Given the description of an element on the screen output the (x, y) to click on. 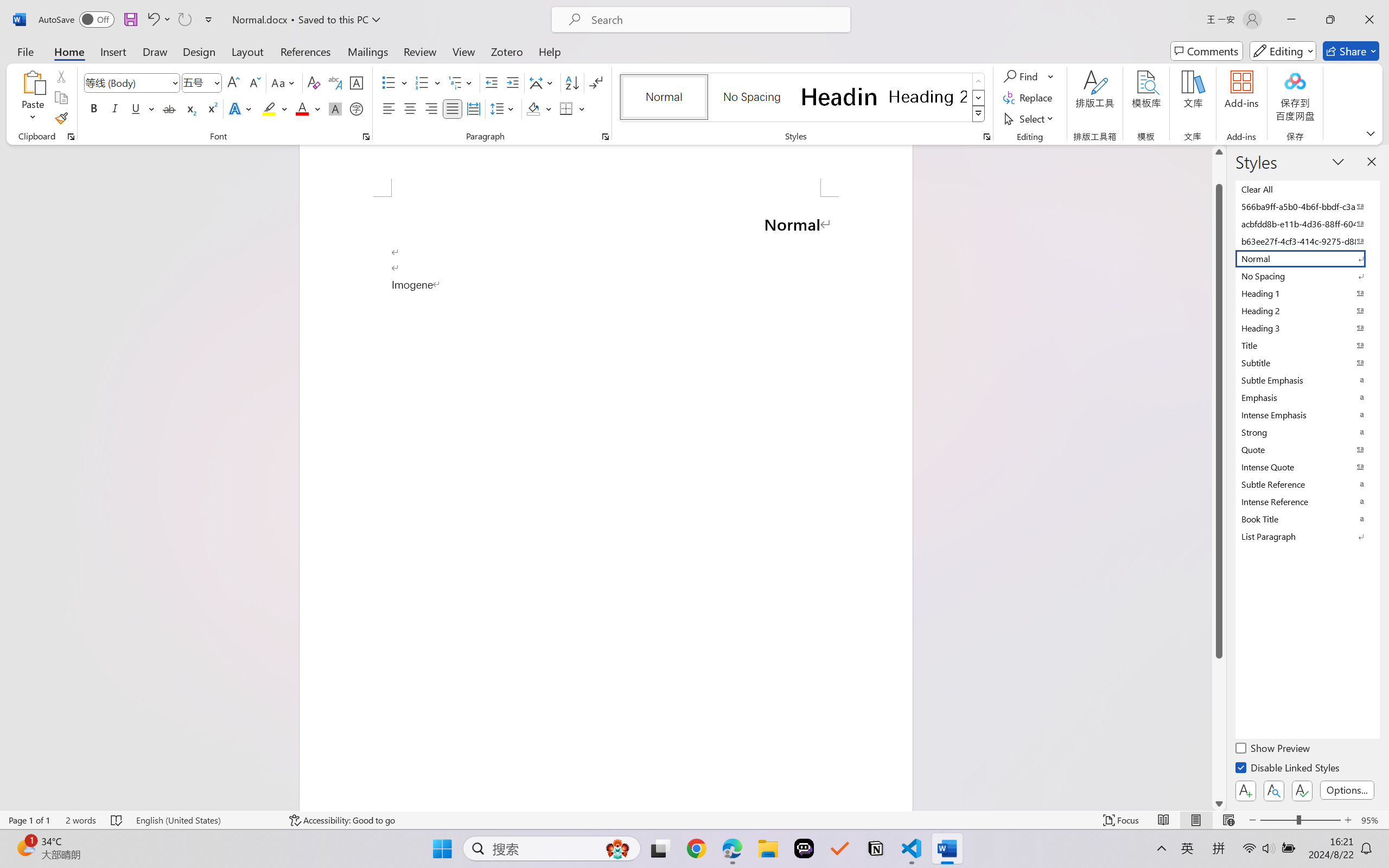
Page 1 content (605, 503)
Shading RGB(0, 0, 0) (533, 108)
Center (409, 108)
Zoom 95% (1372, 819)
Help (549, 51)
Select (1030, 118)
Align Right (431, 108)
Change Case (284, 82)
No Spacing (1306, 275)
Quote (1306, 449)
Clear Formatting (313, 82)
Intense Quote (1306, 466)
Justify (452, 108)
